Given the description of an element on the screen output the (x, y) to click on. 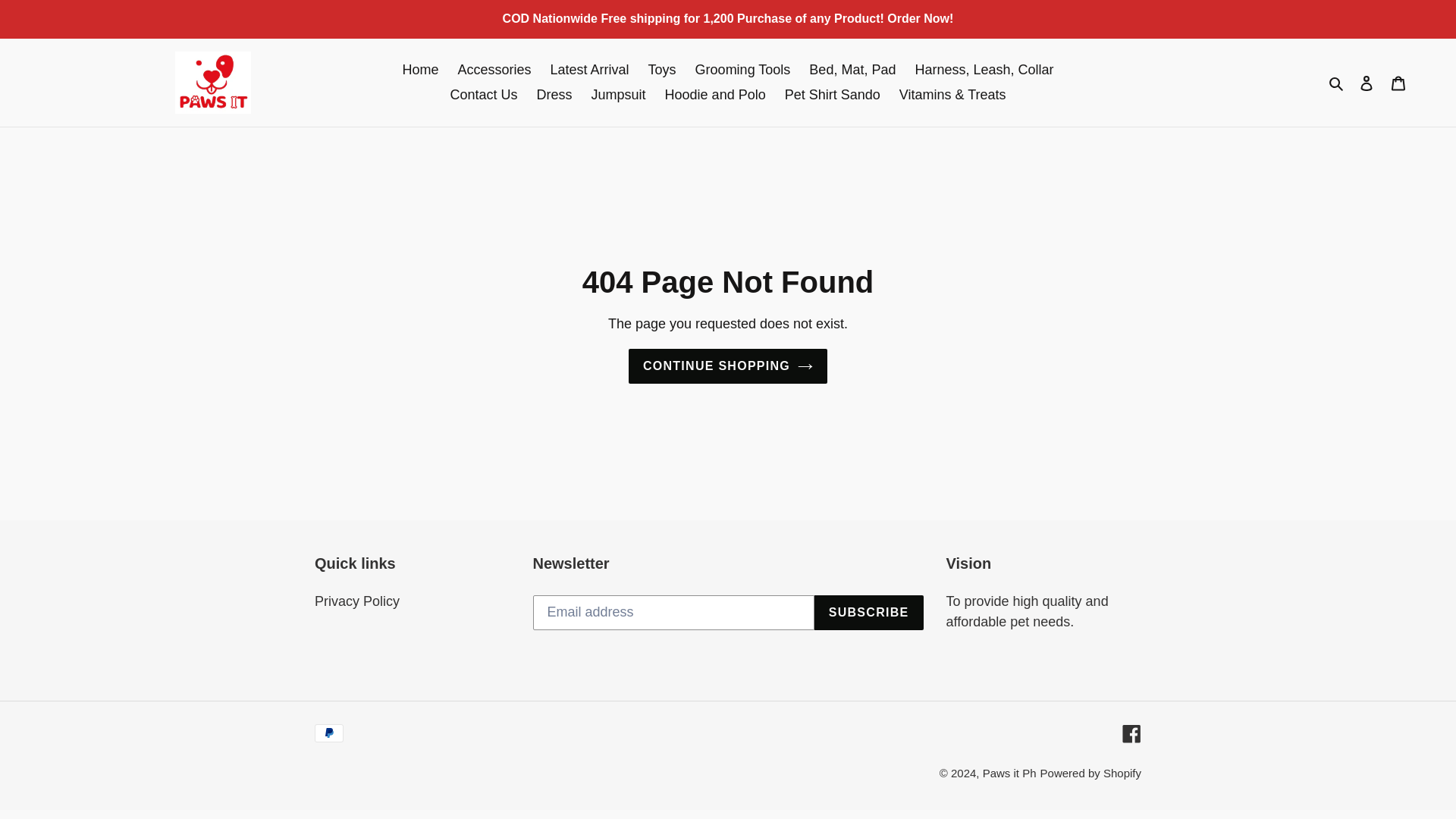
Cart (1397, 82)
Dress (554, 94)
SUBSCRIBE (868, 612)
Hoodie and Polo (715, 94)
Log in (1366, 82)
Home (419, 69)
Search (1337, 82)
Toys (662, 69)
Bed, Mat, Pad (852, 69)
Grooming Tools (742, 69)
Contact Us (483, 94)
Jumpsuit (618, 94)
Pet Shirt Sando (832, 94)
Latest Arrival (590, 69)
Privacy Policy (356, 601)
